Given the description of an element on the screen output the (x, y) to click on. 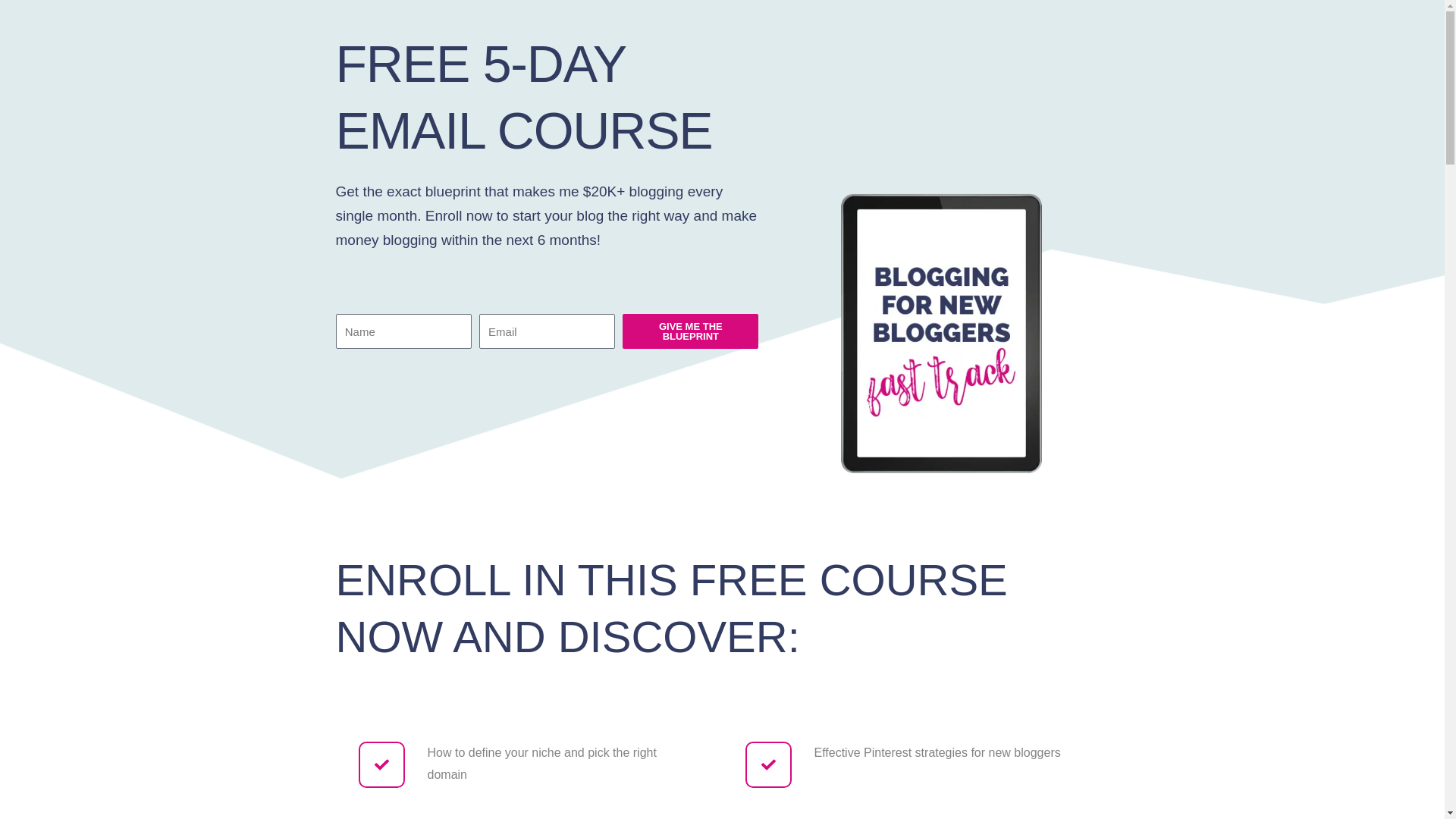
Blogging for New Bloggers Fast Track Free Course 2 (941, 252)
GIVE ME THE BLUEPRINT (690, 330)
